Given the description of an element on the screen output the (x, y) to click on. 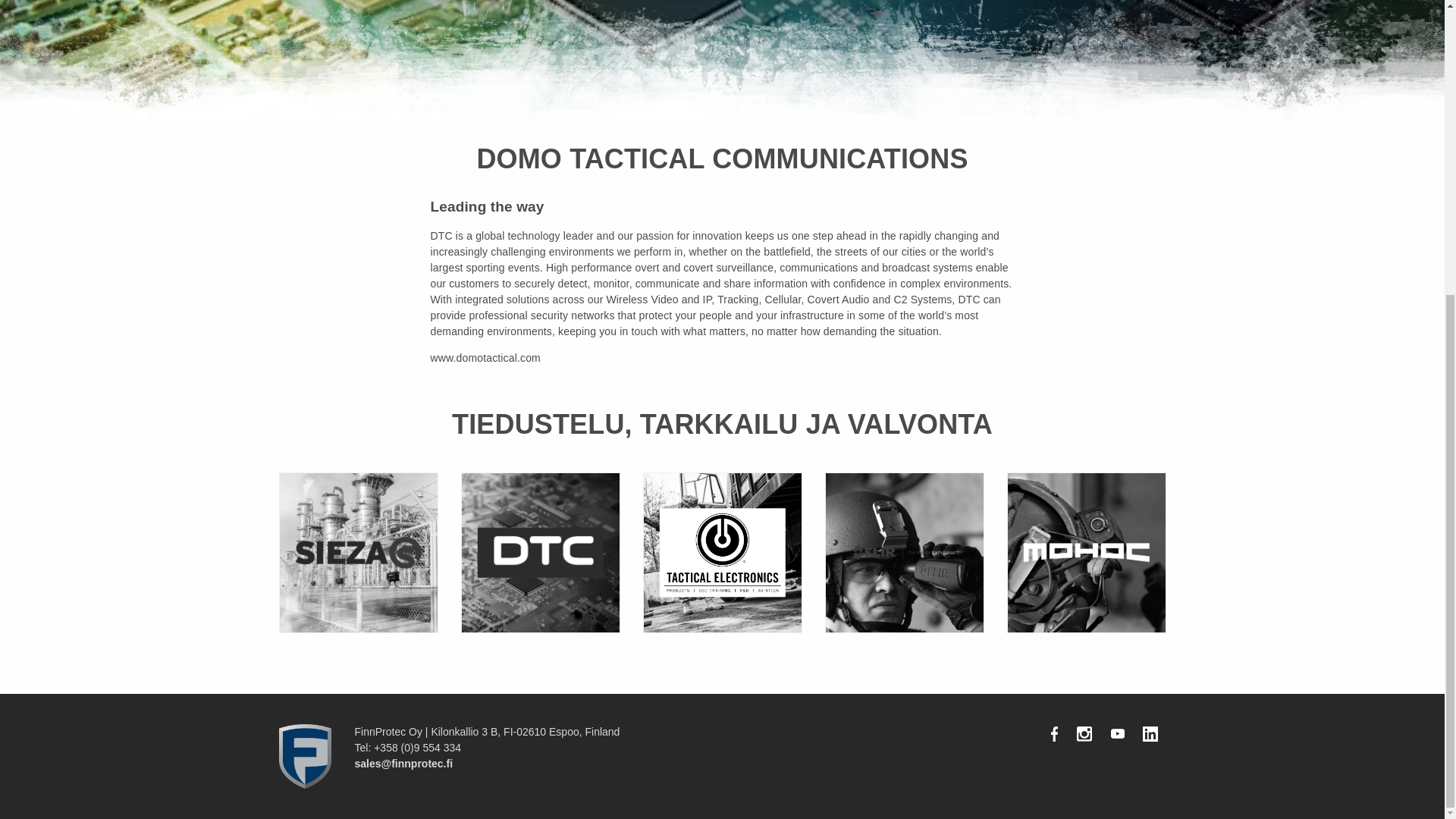
Domo Tactical Communications (539, 552)
MOHOC (1085, 551)
Tactical Electronics (721, 552)
Sieza (357, 552)
Flir (903, 552)
